Given the description of an element on the screen output the (x, y) to click on. 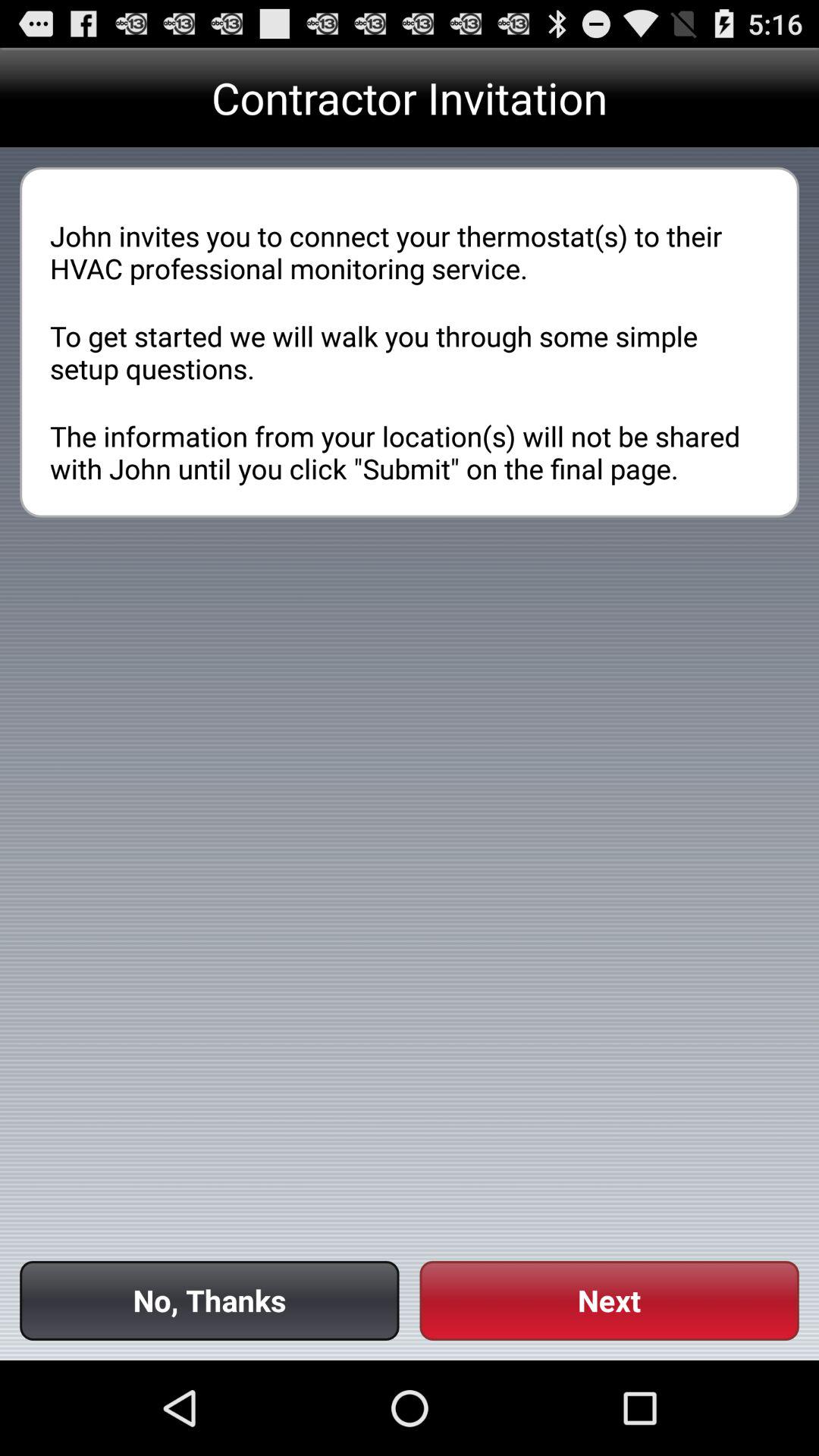
choose icon below the the information from app (609, 1300)
